Given the description of an element on the screen output the (x, y) to click on. 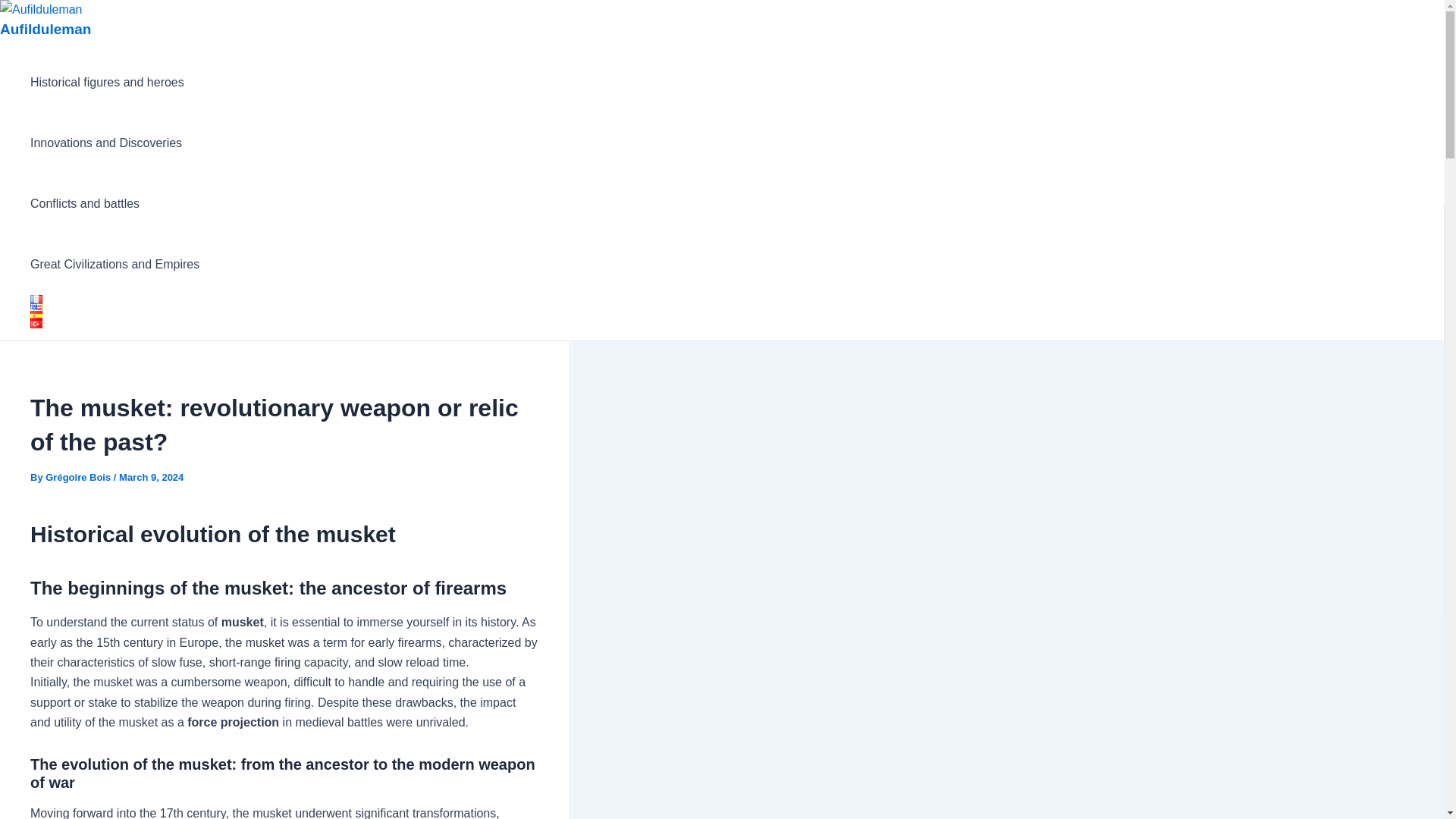
Aufilduleman (45, 28)
Great Civilizations and Empires (114, 264)
Historical figures and heroes (114, 82)
Innovations and Discoveries (114, 143)
Conflicts and battles (114, 203)
